Given the description of an element on the screen output the (x, y) to click on. 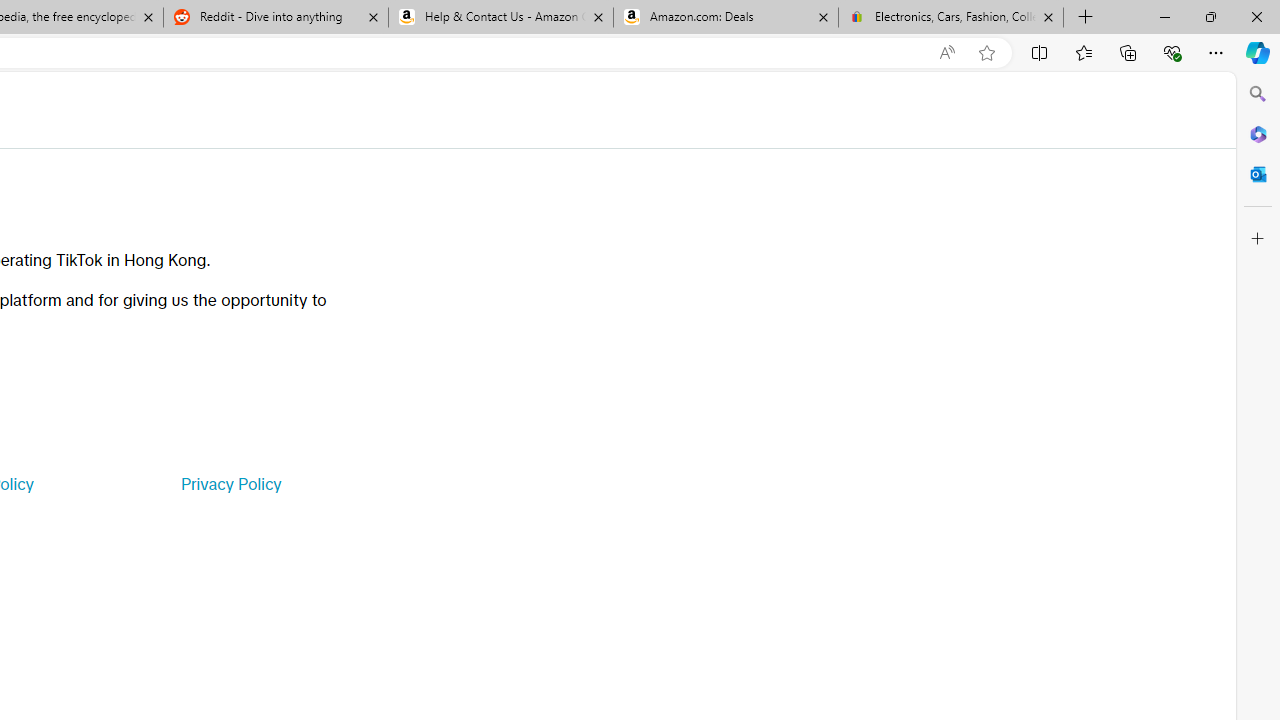
Help & Contact Us - Amazon Customer Service (501, 17)
